Given the description of an element on the screen output the (x, y) to click on. 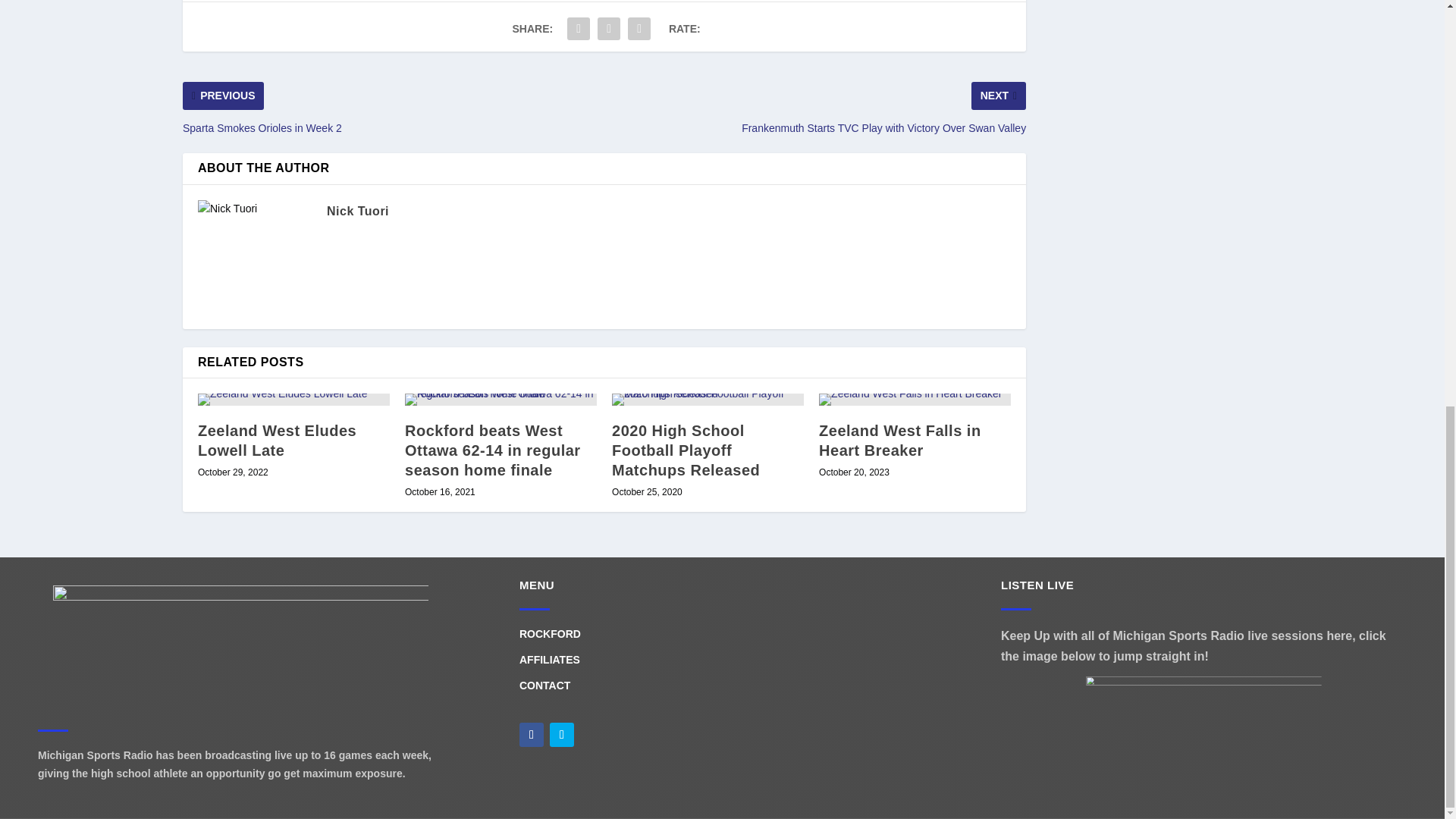
Zeeland West Falls in Heart Breaker (914, 399)
View all posts by Nick Tuori (357, 210)
Follow on Twitter (561, 734)
Follow on Facebook (531, 734)
Zeeland West Eludes Lowell Late (294, 399)
2020 High School Football Playoff Matchups Released (707, 399)
msrlogonew2c22 (240, 649)
